Given the description of an element on the screen output the (x, y) to click on. 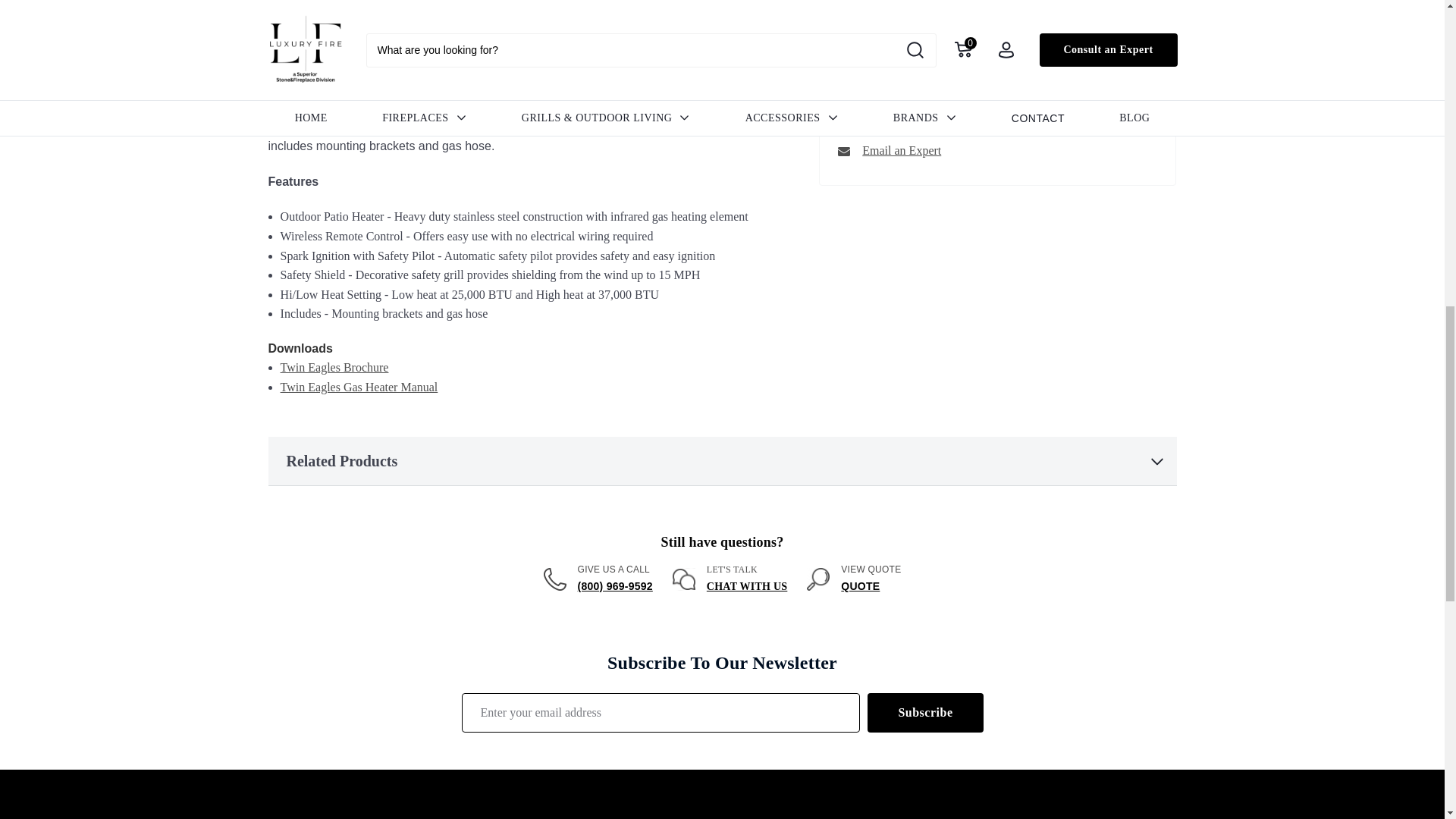
Subscribe (924, 712)
